Given the description of an element on the screen output the (x, y) to click on. 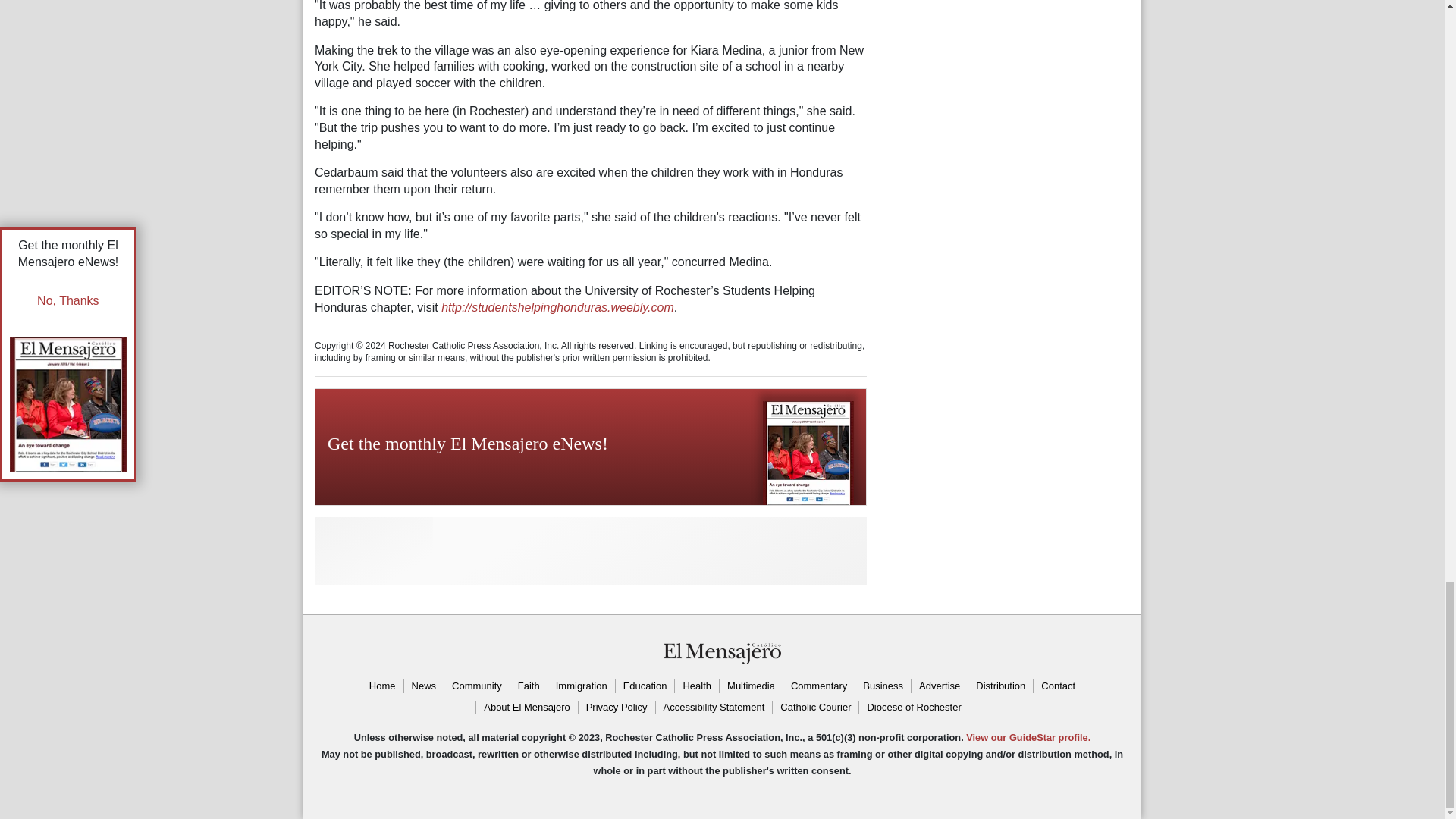
Multimedia (751, 685)
Commentary (818, 685)
Business (882, 685)
Community (476, 685)
Home (382, 685)
News (423, 685)
Advertise (939, 685)
Faith (528, 685)
About El Mensajero (526, 707)
Education (644, 685)
Health (696, 685)
Immigration (580, 685)
Contact (1057, 685)
Privacy Policy (616, 707)
Catholic Courier (815, 707)
